Given the description of an element on the screen output the (x, y) to click on. 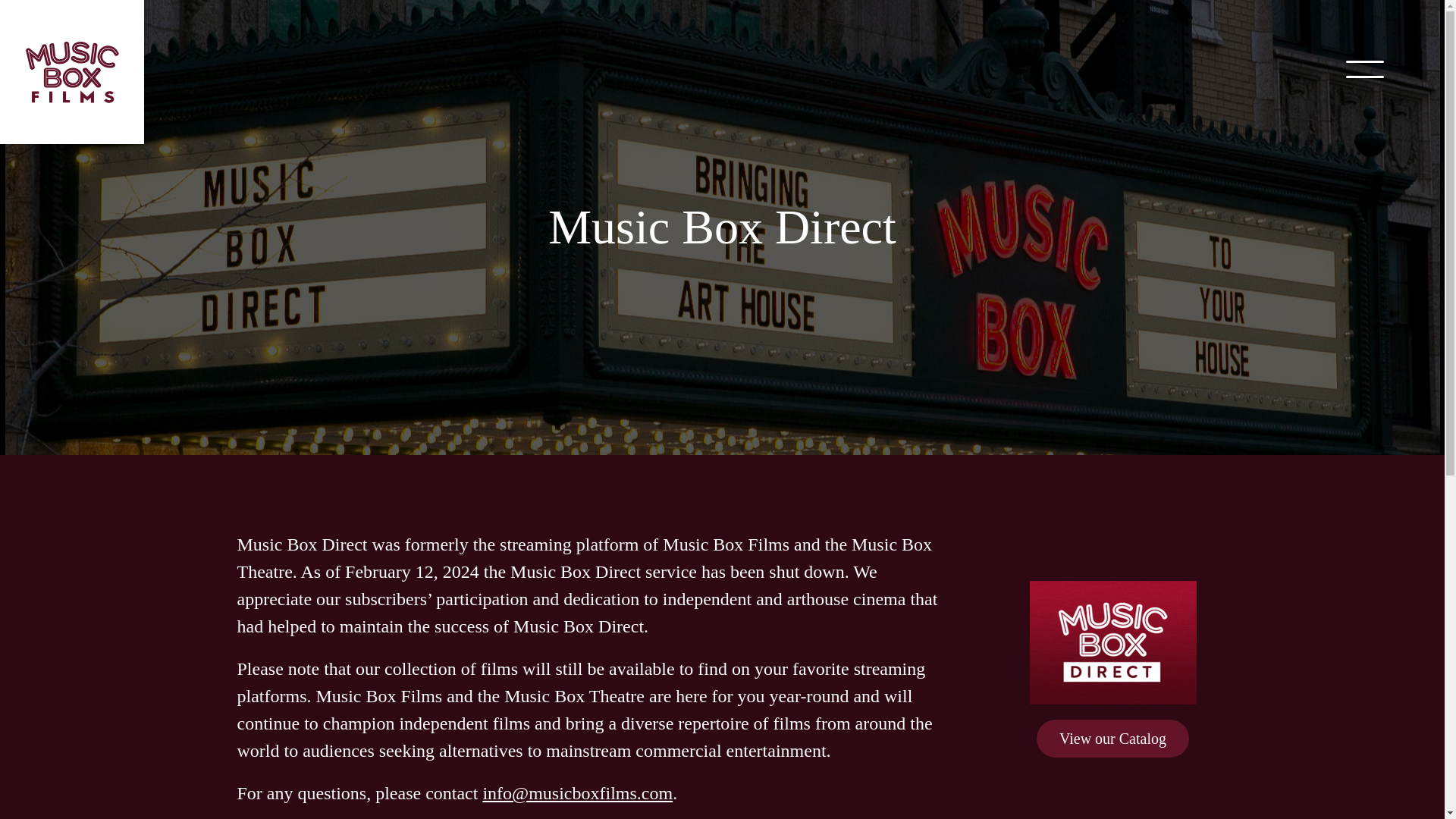
Music Box Films (72, 72)
View our Catalog (1112, 737)
